Given the description of an element on the screen output the (x, y) to click on. 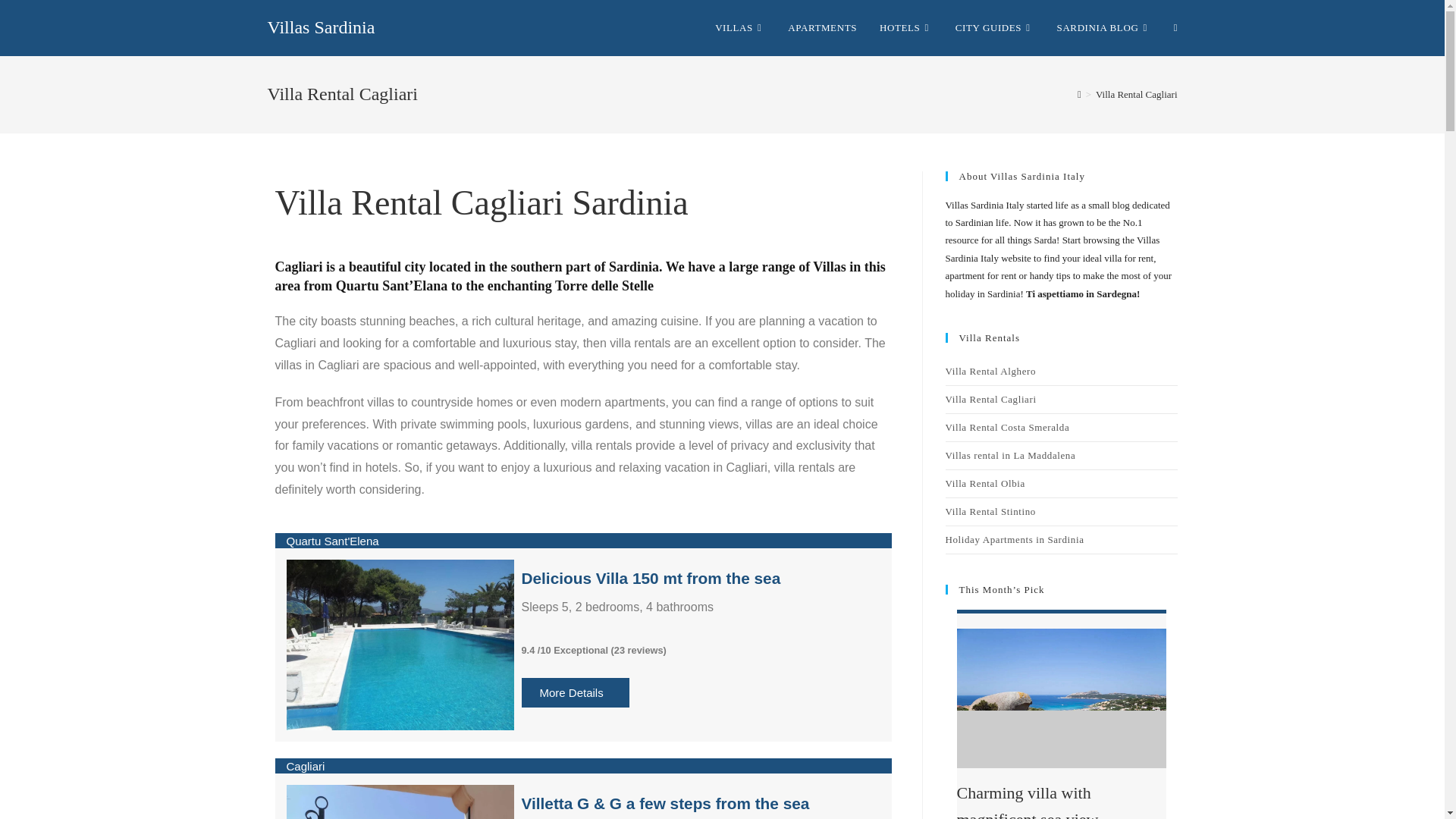
CITY GUIDES (994, 28)
HOTELS (905, 28)
VILLAS (739, 28)
SARDINIA BLOG (1103, 28)
Villa Rental Cagliari - Villas Sardinia (399, 644)
Villas Sardinia (320, 26)
APARTMENTS (821, 28)
Villa Rental Cagliari - Villas Sardinia (399, 801)
